Given the description of an element on the screen output the (x, y) to click on. 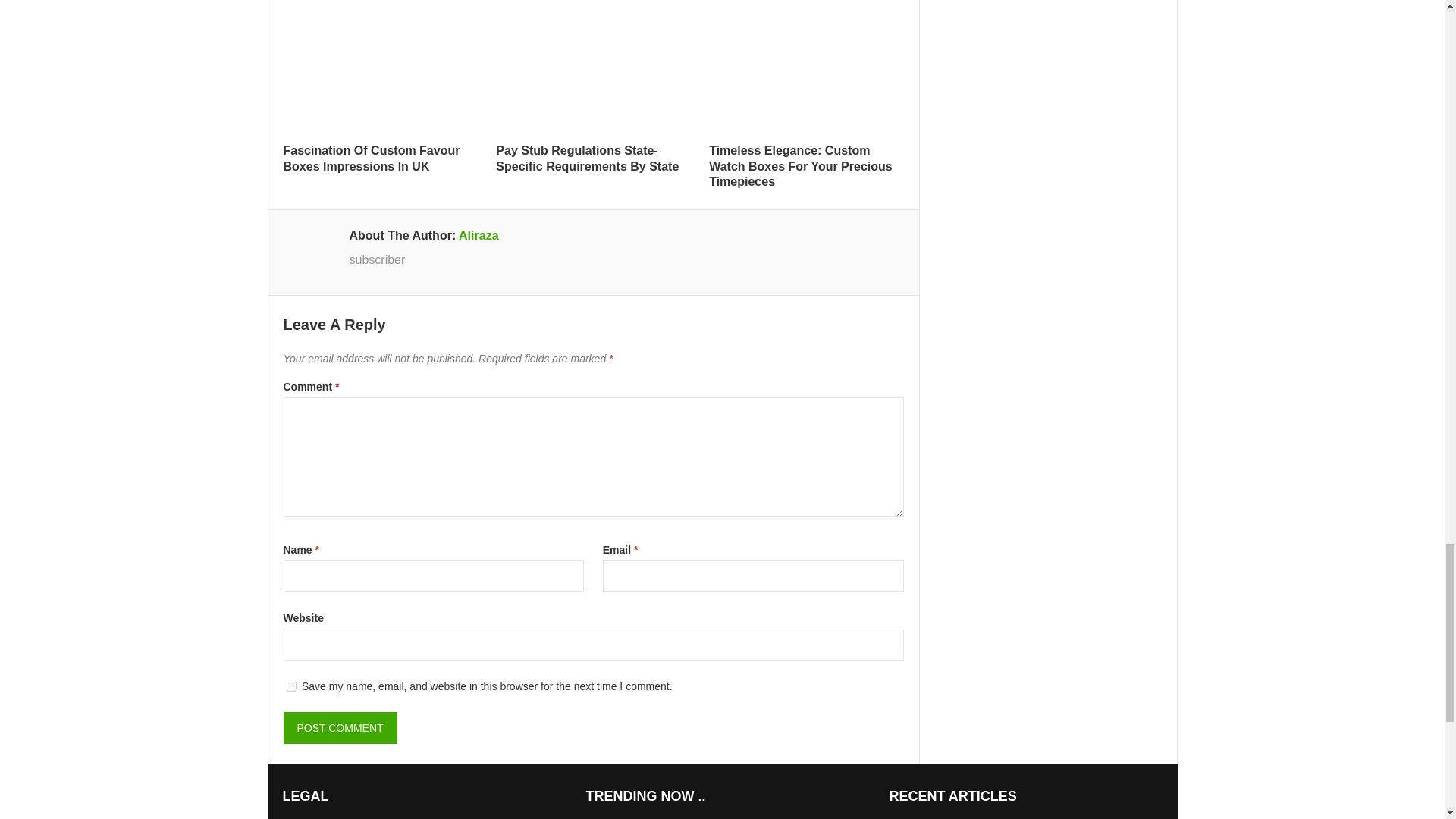
Post Comment (340, 727)
yes (291, 686)
